Given the description of an element on the screen output the (x, y) to click on. 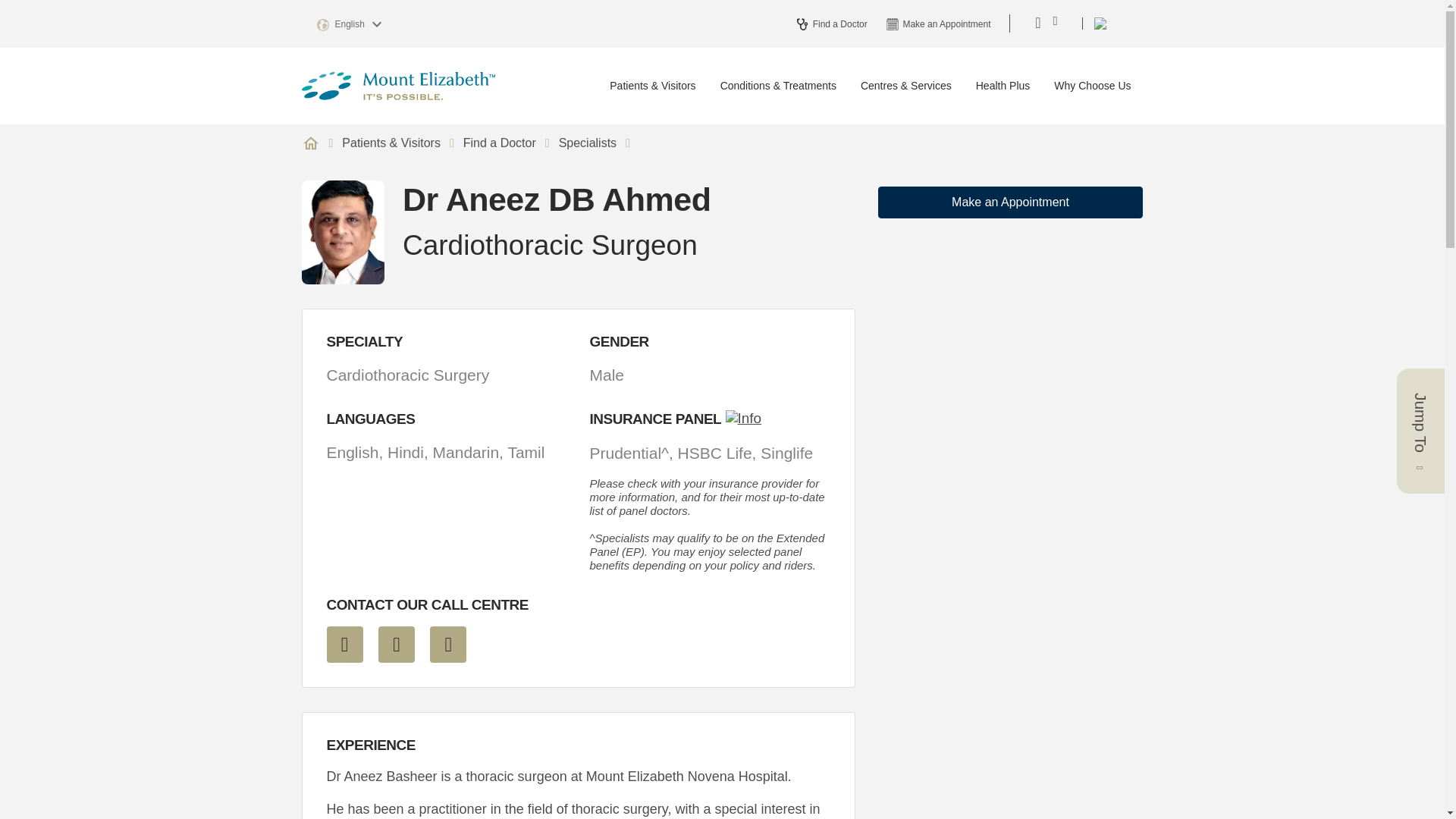
Whatsapp (447, 644)
Why Choose Us (1092, 86)
Email (344, 644)
Health Plus (1002, 86)
Make an Appointment (1009, 202)
Hotline (396, 644)
